Given the description of an element on the screen output the (x, y) to click on. 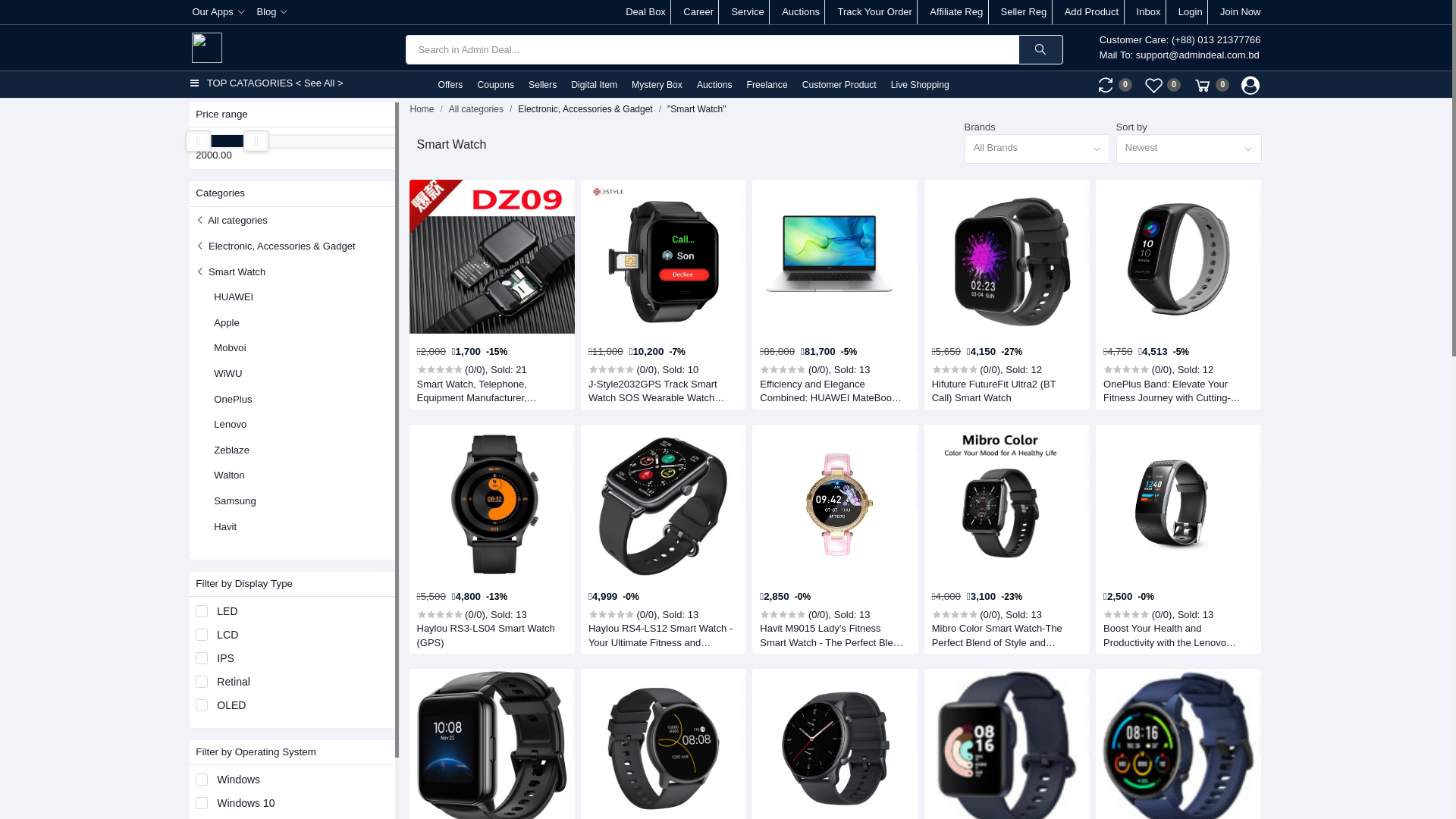
Blog Element type: text (271, 12)
Career Element type: text (698, 12)
RAZER Element type: text (230, 780)
Efficiency and Elegance Combined: HUAWEI MateBook D 15 Element type: text (832, 390)
XIAOMI Element type: text (230, 729)
Smart Watch Element type: text (230, 271)
< See All > Element type: text (319, 82)
Coupons Element type: text (494, 84)
Realme Element type: text (230, 678)
Affiliate Reg Element type: text (955, 12)
Auctions Element type: text (713, 84)
0 Element type: text (1210, 84)
Customer Product Element type: text (838, 84)
Mobvoi Element type: text (229, 347)
WiWU Element type: text (227, 373)
Newest Element type: text (1188, 148)
Inbox Element type: text (1148, 12)
Astrum Element type: text (229, 551)
Service Element type: text (747, 12)
XINJI Element type: text (225, 627)
Auctions Element type: text (800, 12)
Our Apps Element type: text (218, 12)
HUAWEI Element type: text (233, 296)
Join Now Element type: text (1240, 12)
All Brands Element type: text (1037, 148)
Offers Element type: text (449, 84)
Sellers Element type: text (541, 84)
Lenovo Element type: text (229, 423)
Zeblaze Element type: text (231, 449)
Add Product Element type: text (1091, 12)
Digital Item Element type: text (592, 84)
Samsung Element type: text (234, 500)
Smart Watch Element type: text (241, 577)
Amazfit Element type: text (230, 755)
All categories Element type: text (231, 219)
Track Your Order Element type: text (874, 12)
OnePlus Element type: text (232, 398)
Fire Boltt Element type: text (233, 806)
Haylou RS3-LS04 Smart Watch (GPS) Element type: text (489, 635)
Mystery Box Element type: text (656, 84)
Hifuture FutureFit Ultra2 (BT Call) Smart Watch Element type: text (1004, 390)
Apple Element type: text (226, 322)
Live Shopping Element type: text (918, 84)
Kieslect Element type: text (230, 602)
Electronic, Accessories & Gadget Element type: text (584, 109)
"Smart Watch" Element type: text (696, 109)
Seller Reg Element type: text (1024, 12)
COLMI Element type: text (229, 652)
Home Element type: text (421, 109)
0 Element type: text (1162, 84)
Zepp Element type: text (224, 704)
0 Element type: text (1113, 84)
Electronic, Accessories & Gadget Element type: text (274, 245)
Freelance Element type: text (766, 84)
Havit Element type: text (224, 526)
Walton Element type: text (228, 474)
All categories Element type: text (475, 109)
Login Element type: text (1190, 12)
Deal Box Element type: text (645, 12)
